Given the description of an element on the screen output the (x, y) to click on. 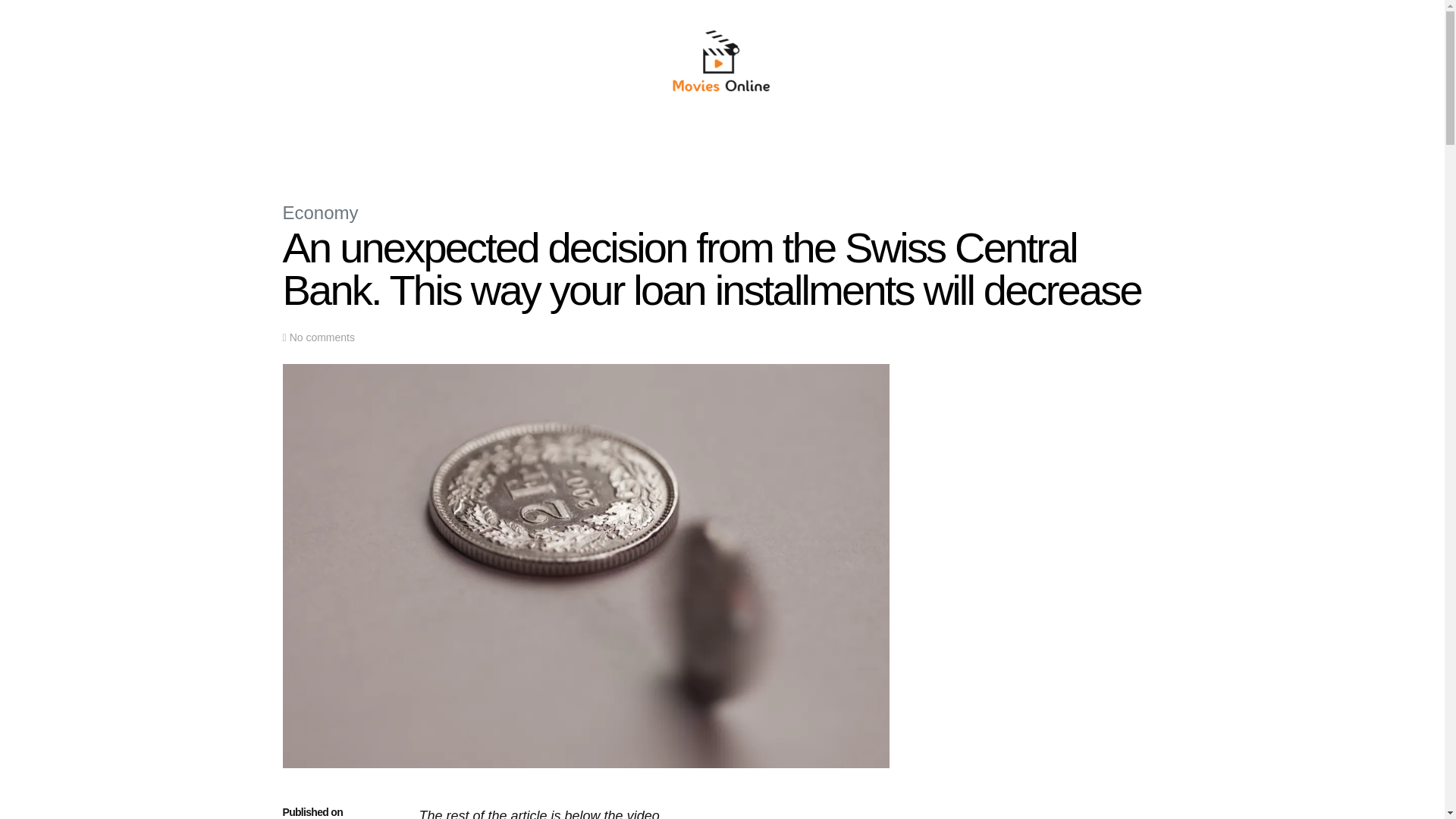
CONTACT FORM (926, 145)
SPORT (762, 145)
TOP NEWS (495, 145)
Economy (320, 212)
ENTERTAINMENT (834, 145)
SCIENCE (671, 145)
ECONOMY (610, 145)
WORLD (553, 145)
No comments (322, 337)
